Given the description of an element on the screen output the (x, y) to click on. 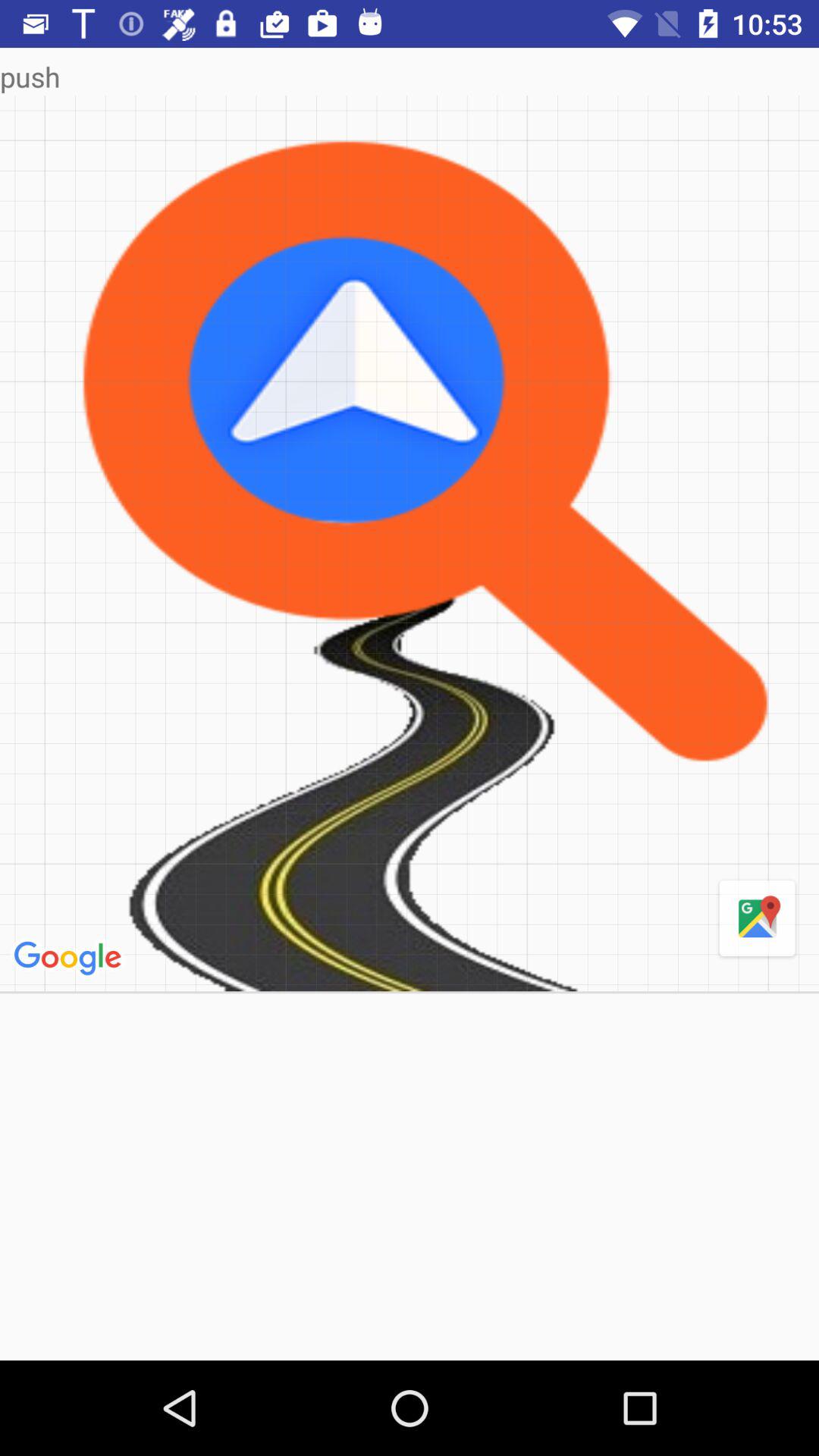
scroll until push item (409, 76)
